Given the description of an element on the screen output the (x, y) to click on. 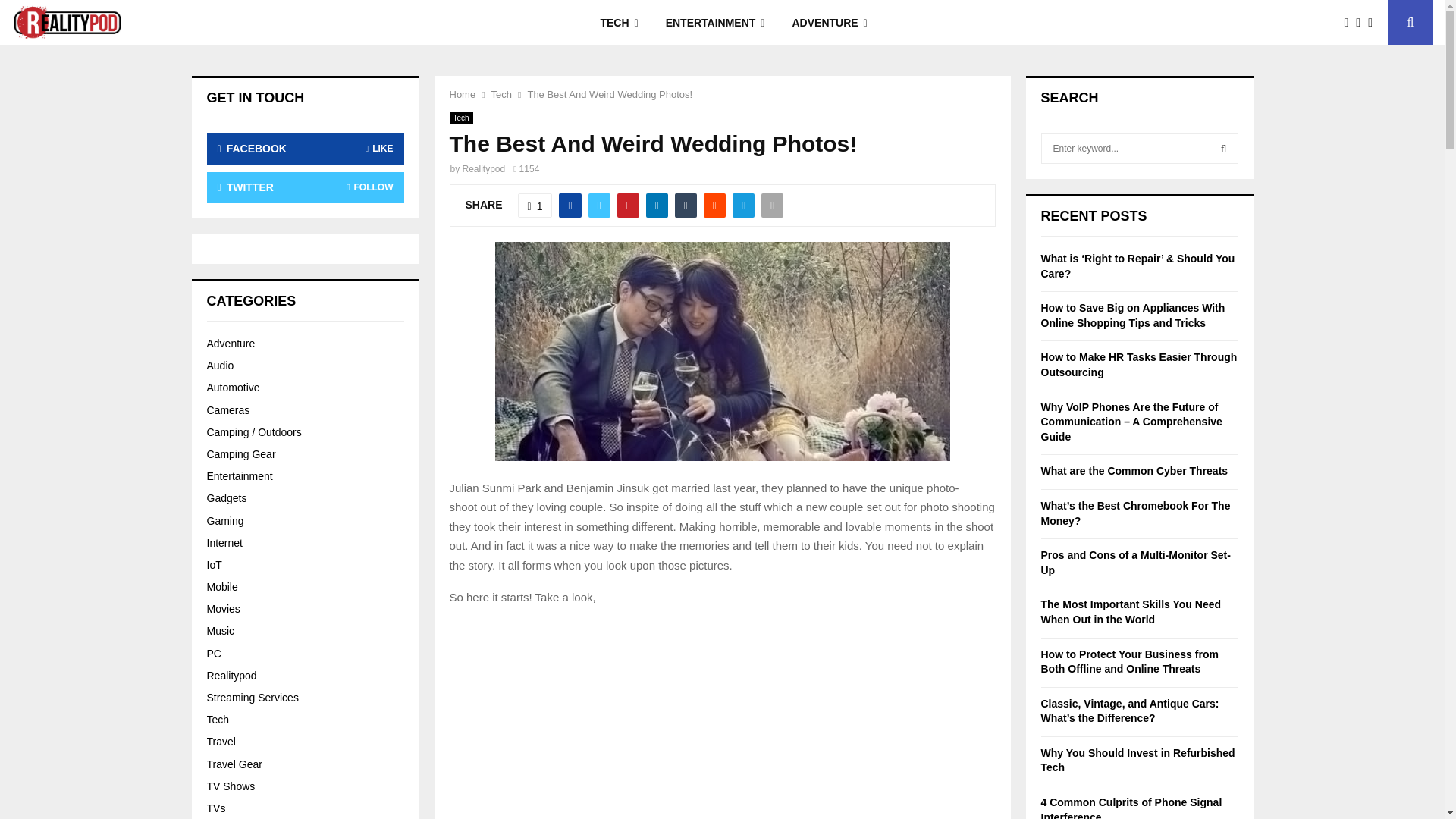
Like (535, 205)
Home (462, 93)
Realitypod (484, 168)
The Best And Weird Wedding Photos! (610, 93)
ADVENTURE (828, 22)
1 (535, 205)
ENTERTAINMENT (715, 22)
TECH (618, 22)
Tech (459, 118)
Tech (502, 93)
